Given the description of an element on the screen output the (x, y) to click on. 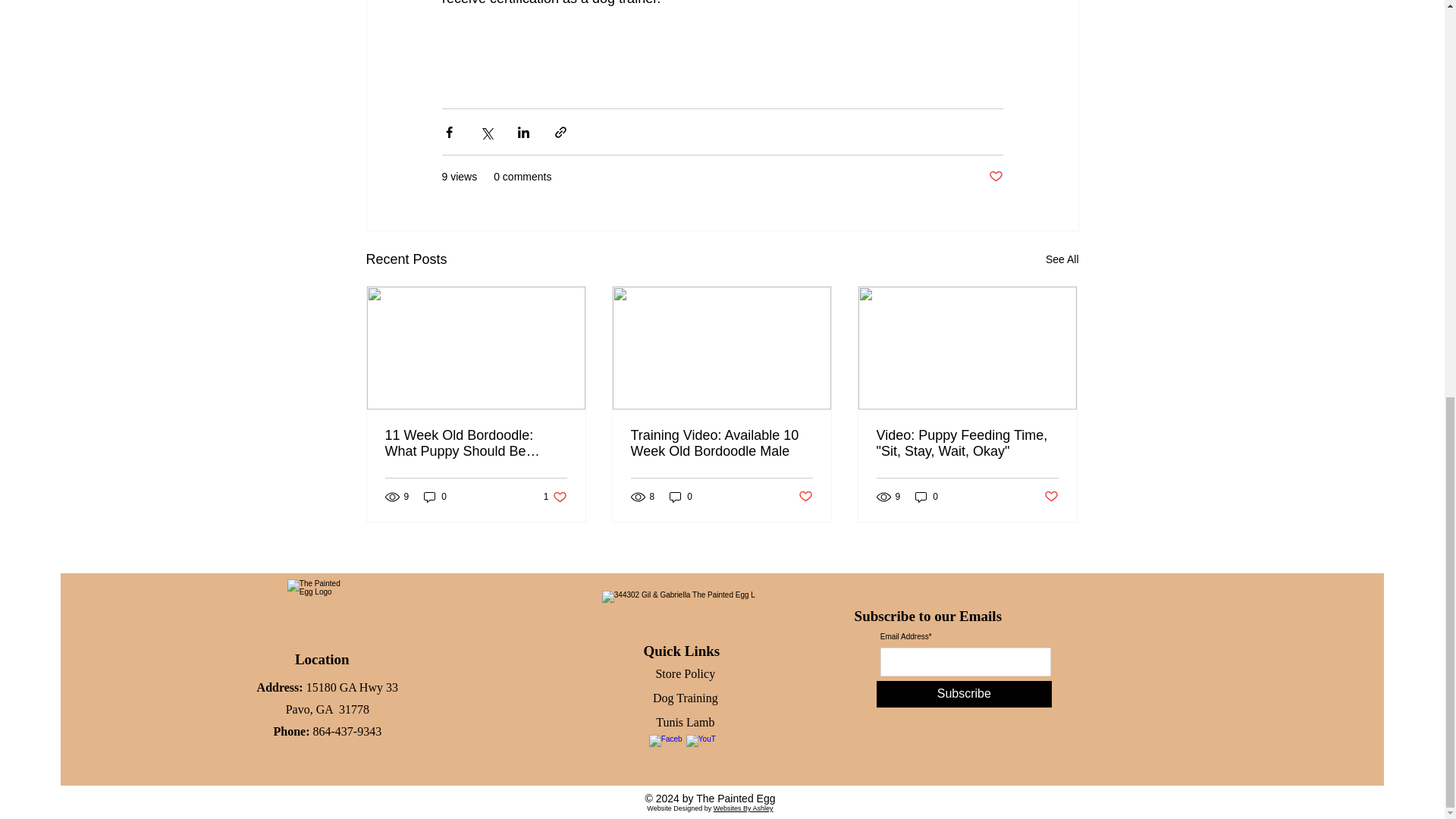
Post not marked as liked (804, 496)
Training Video: Available 10 Week Old Bordoodle Male (721, 443)
0 (555, 496)
Post not marked as liked (926, 496)
0 (995, 176)
0 (681, 496)
11 Week Old Bordoodle: What Puppy Should Be Doing? (435, 496)
See All (476, 443)
Video: Puppy Feeding Time, "Sit, Stay, Wait, Okay" (1061, 259)
